Given the description of an element on the screen output the (x, y) to click on. 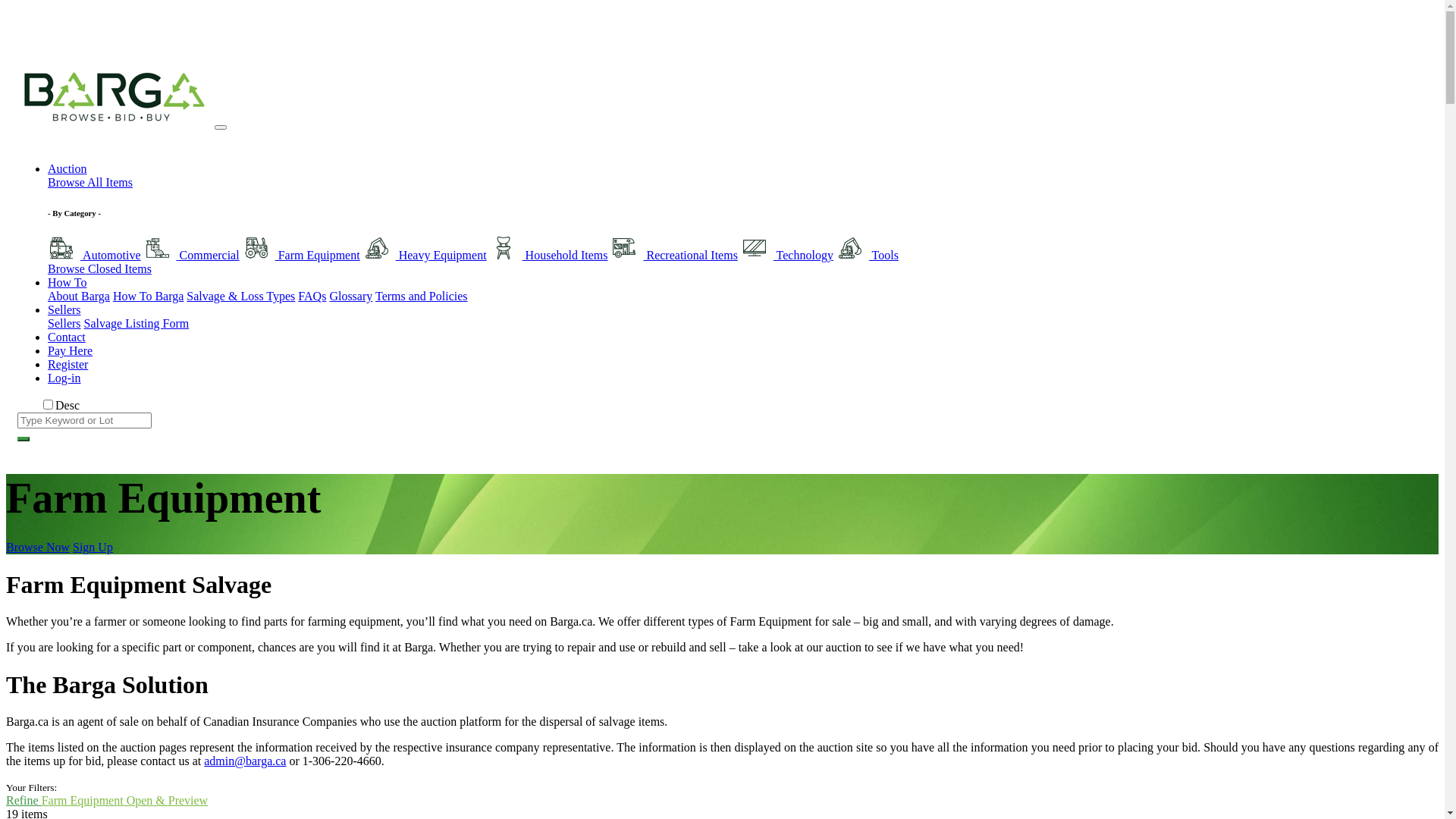
1-306-220-4660. Element type: text (343, 760)
Sellers Element type: text (64, 322)
Keyword Search Element type: hover (23, 438)
Pay Here Element type: text (69, 350)
admin@barga.ca Element type: text (244, 760)
Recreational Items Element type: text (673, 254)
Browse Closed Items Element type: text (99, 268)
Sign Up Element type: text (92, 546)
How To Barga Element type: text (147, 295)
Technology Element type: text (786, 254)
Heavy Equipment Element type: text (424, 254)
Refine Element type: text (23, 799)
Browse All Items Element type: text (89, 181)
Open & Preview Element type: text (165, 799)
Farm Equipment Element type: text (301, 254)
Log-in Element type: text (64, 377)
Register Element type: text (67, 363)
FAQs Element type: text (312, 295)
Auction Element type: text (67, 168)
Tools Element type: text (867, 254)
How To Element type: text (66, 282)
Salvage & Loss Types Element type: text (240, 295)
Glossary Element type: text (350, 295)
Sellers Element type: text (64, 309)
Salvage Listing Form Element type: text (136, 322)
Household Items Element type: text (548, 254)
Automotive Element type: text (94, 254)
Commercial Element type: text (191, 254)
Farm Equipment Element type: text (82, 799)
Terms and Policies Element type: text (421, 295)
Contact Element type: text (66, 336)
About Barga Element type: text (78, 295)
Browse Now Element type: text (37, 546)
